Given the description of an element on the screen output the (x, y) to click on. 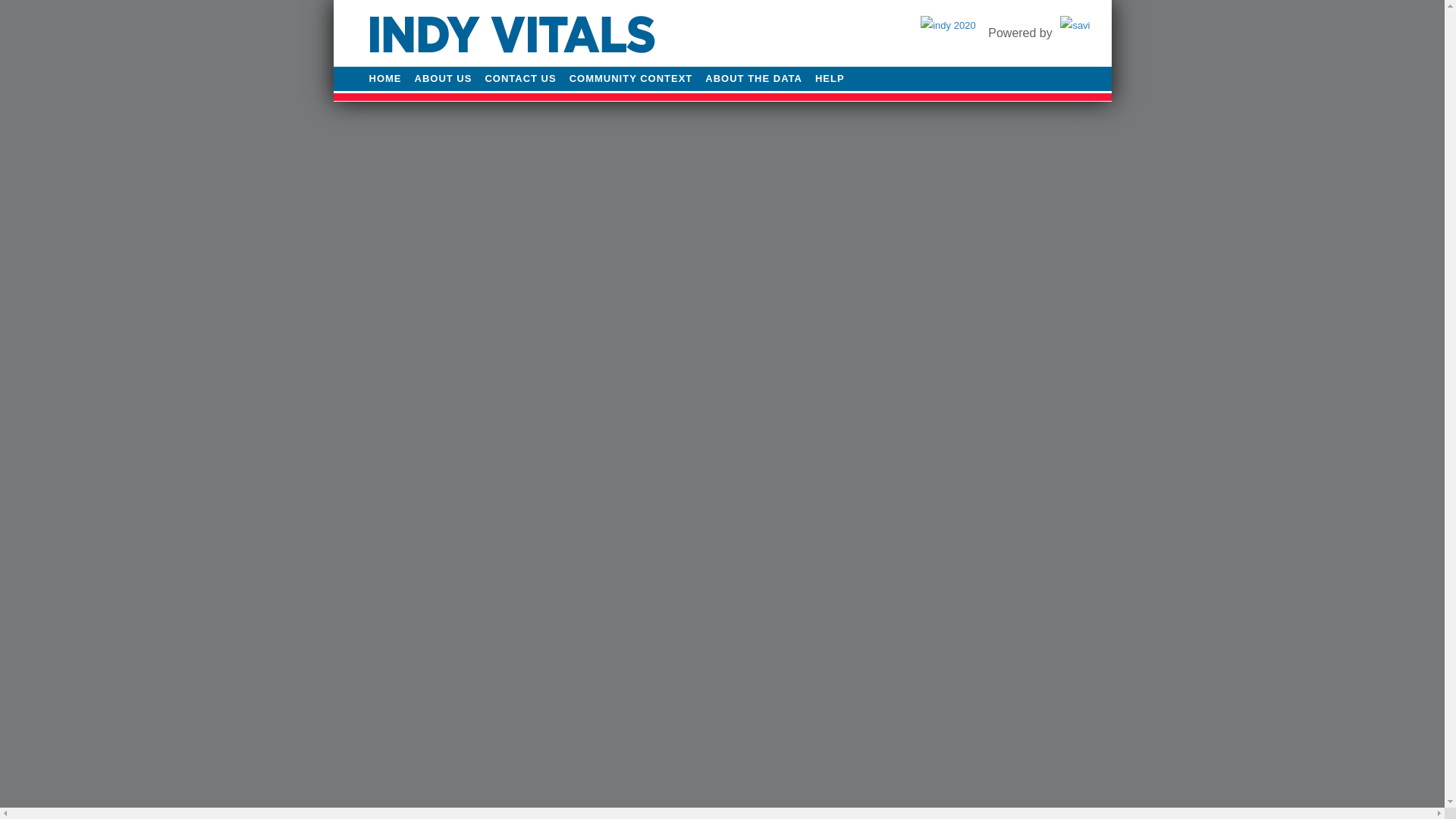
ABOUT THE DATA (753, 78)
HELP (829, 78)
CONTACT US (520, 78)
ABOUT US (442, 78)
COMMUNITY CONTEXT (631, 78)
HOME (384, 78)
